Given the description of an element on the screen output the (x, y) to click on. 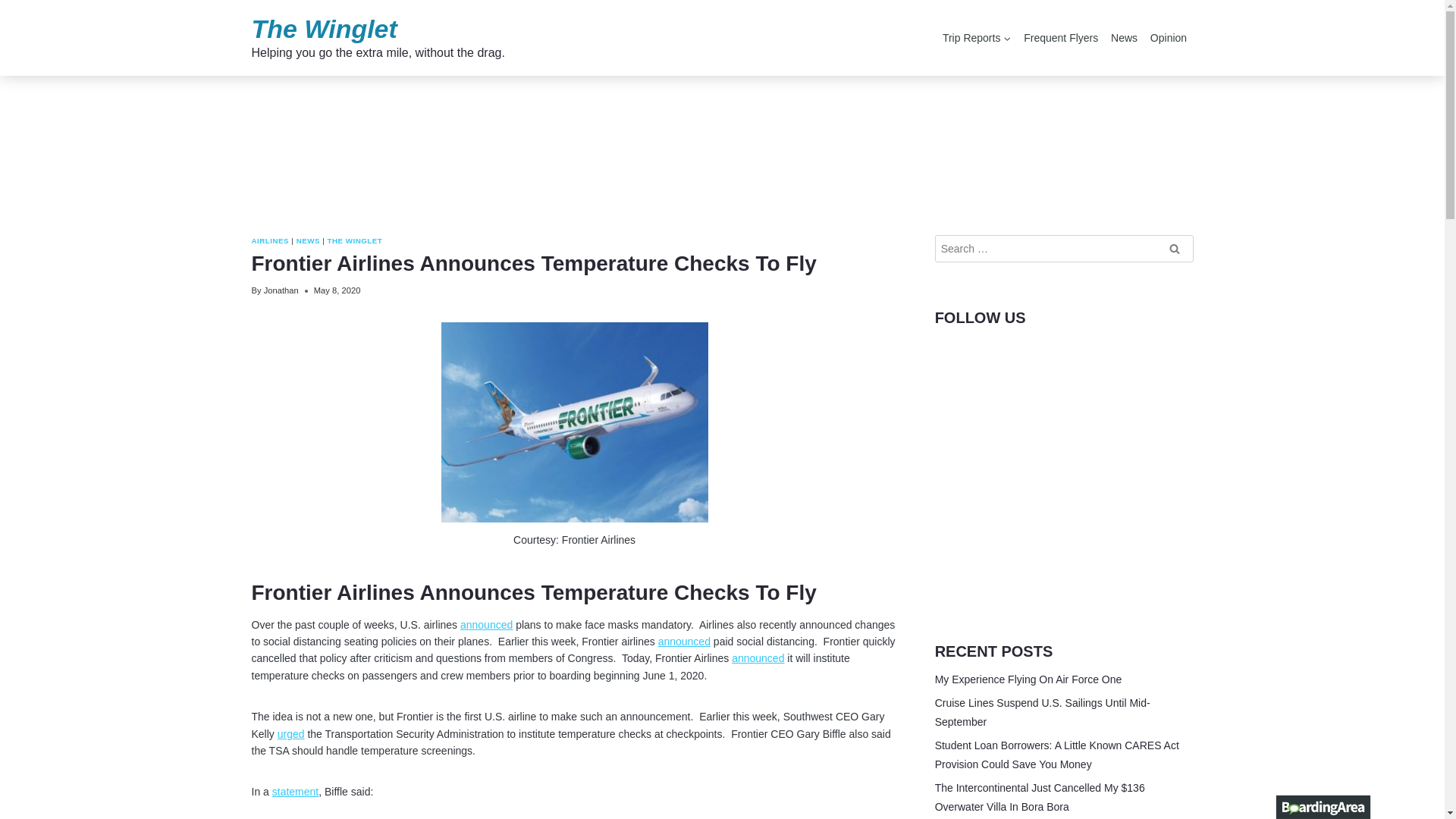
Trip Reports (976, 37)
NEWS (308, 240)
Jonathan (280, 289)
announced (758, 657)
Search (1174, 248)
Search (1174, 248)
announced (486, 624)
statement (378, 37)
THE WINGLET (295, 791)
